Given the description of an element on the screen output the (x, y) to click on. 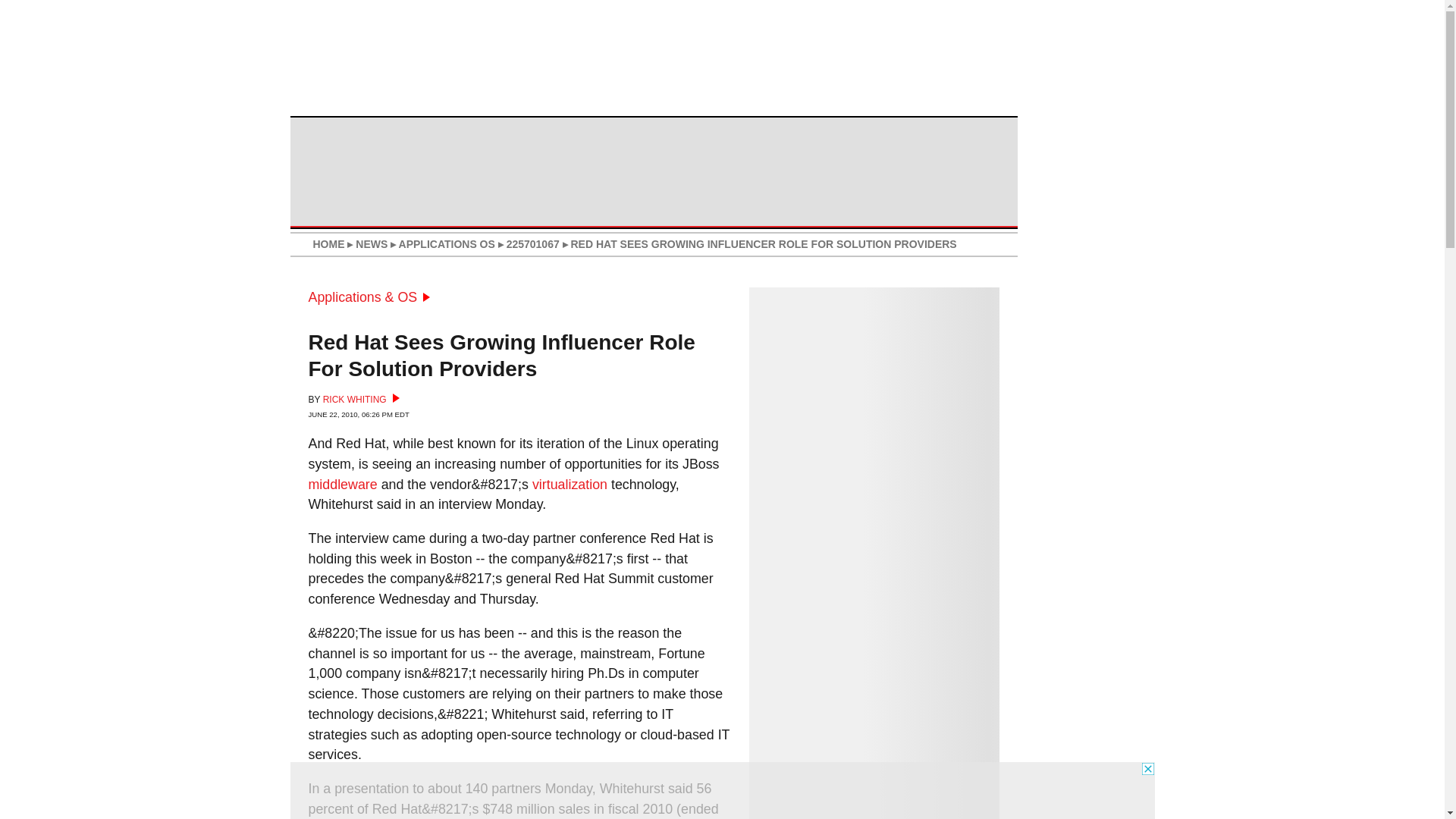
middleware (342, 484)
RICK WHITING (360, 398)
virtualization (569, 484)
virtualization (569, 484)
middleware (342, 484)
HOME (328, 244)
